Given the description of an element on the screen output the (x, y) to click on. 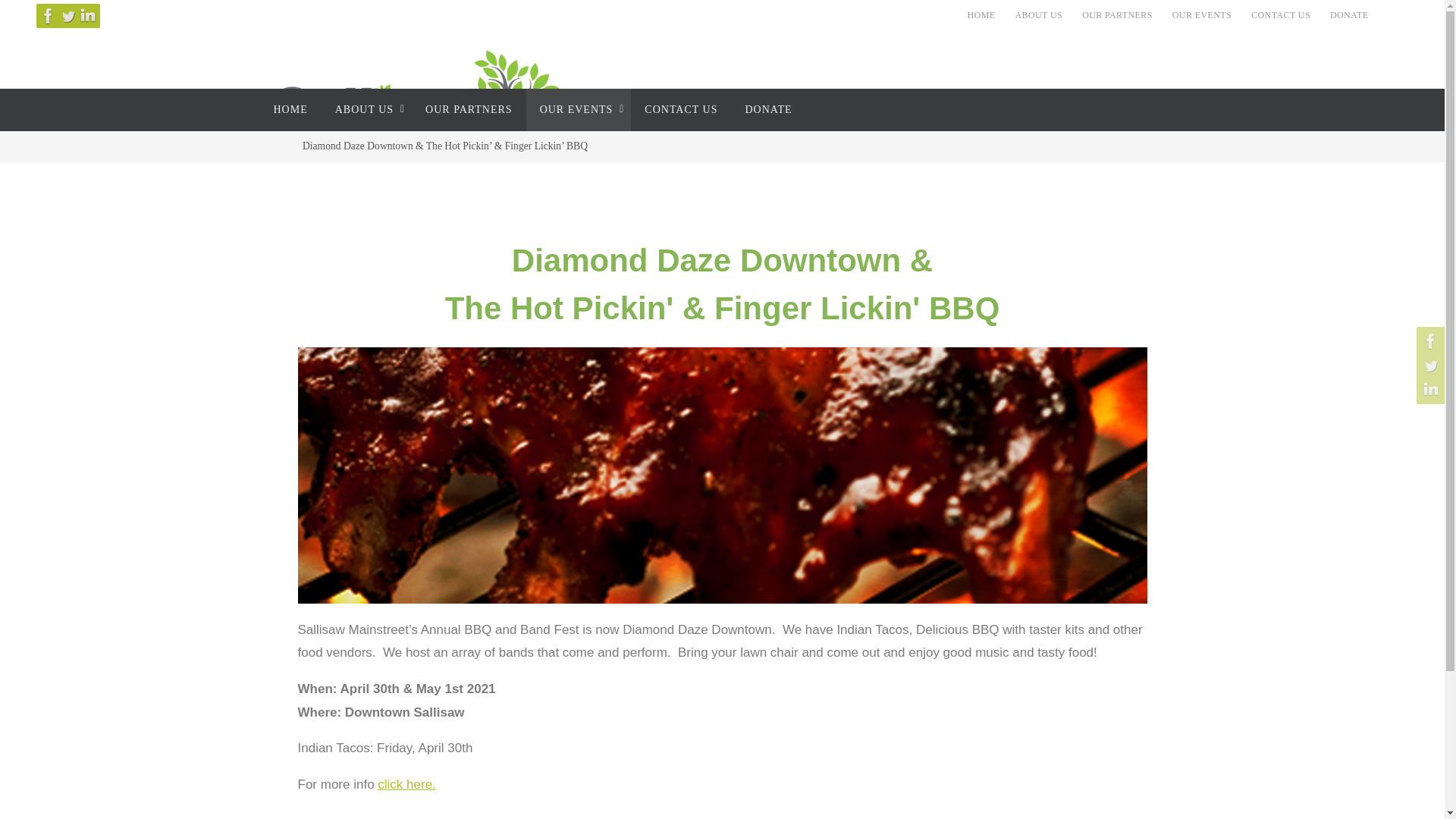
OUR EVENTS (578, 109)
OUR PARTNERS (468, 109)
Facebook (48, 15)
CONTACT US (1280, 14)
Twitter (68, 15)
LinkedIn (87, 15)
CONTACT US (680, 109)
ABOUT US (366, 109)
OUR EVENTS (1201, 14)
DONATE (1348, 14)
